Given the description of an element on the screen output the (x, y) to click on. 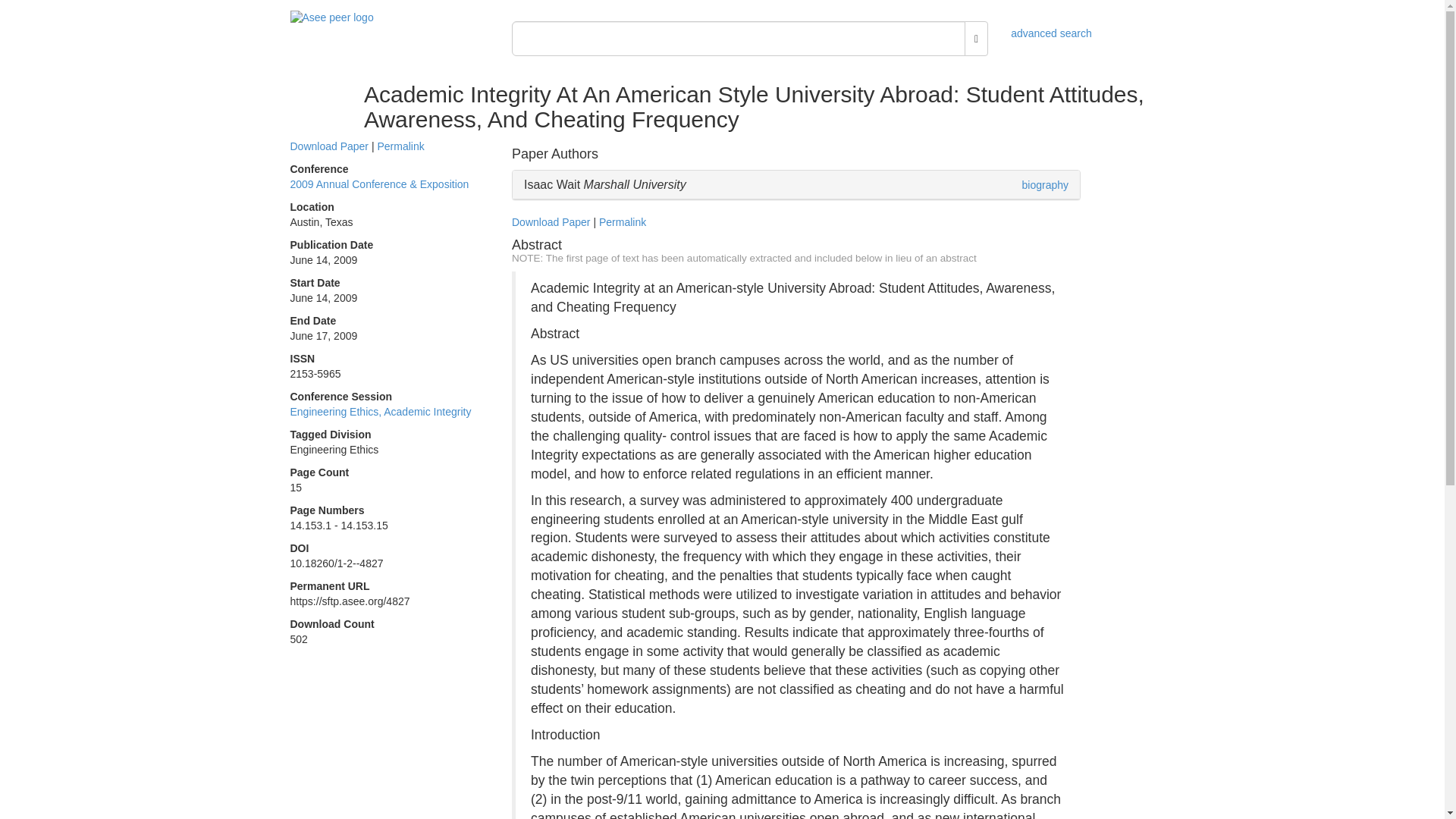
Permalink (622, 222)
biography (1045, 184)
Download Paper (551, 222)
Engineering Ethics, Academic Integrity (379, 411)
Download Paper (328, 146)
Permalink (400, 146)
advanced search (1051, 33)
